Given the description of an element on the screen output the (x, y) to click on. 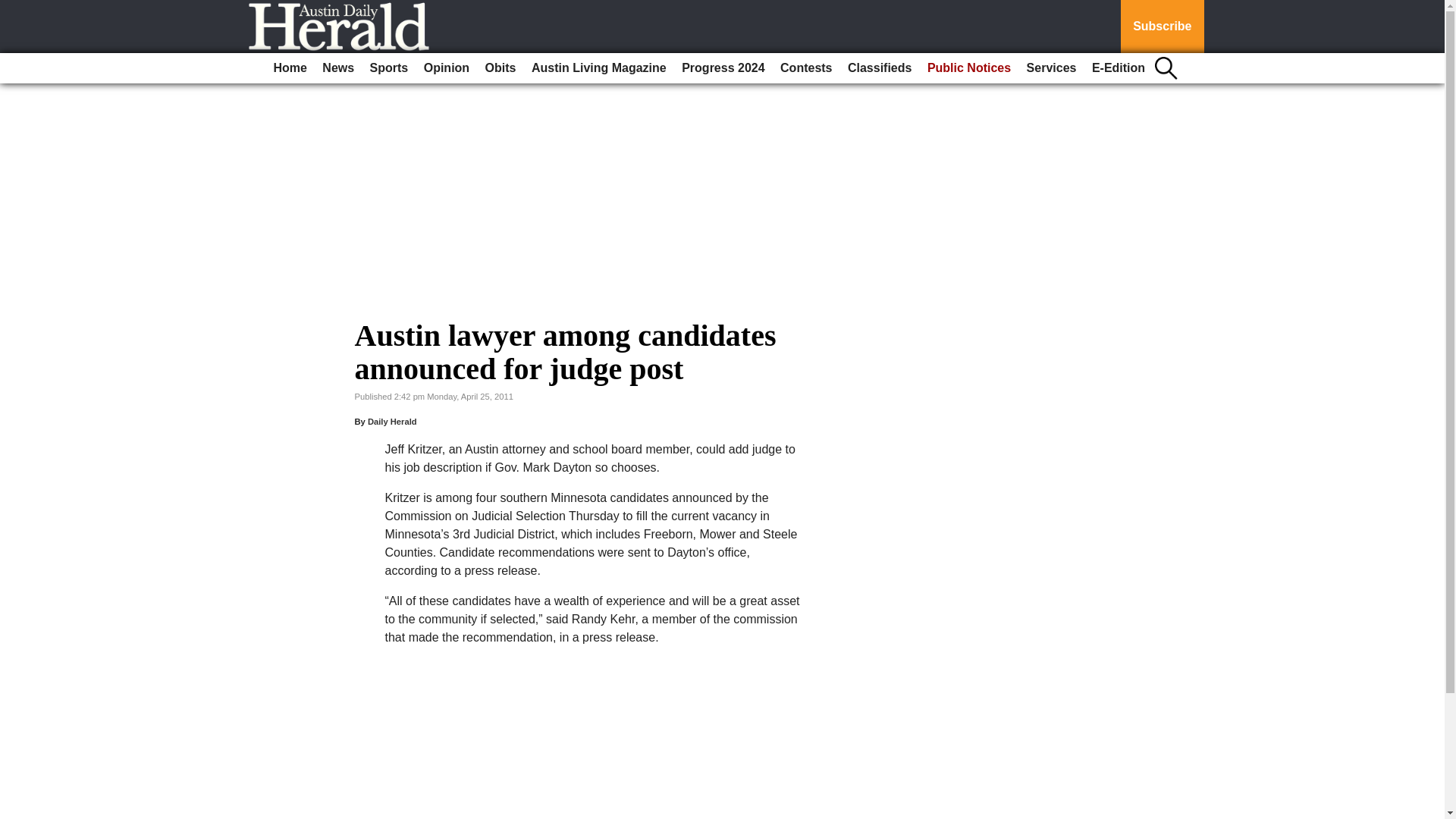
Austin Living Magazine (598, 68)
Subscribe (1162, 26)
Services (1051, 68)
News (337, 68)
Contests (806, 68)
Progress 2024 (722, 68)
Home (289, 68)
Classifieds (879, 68)
Public Notices (968, 68)
Sports (389, 68)
Obits (500, 68)
Opinion (446, 68)
